Given the description of an element on the screen output the (x, y) to click on. 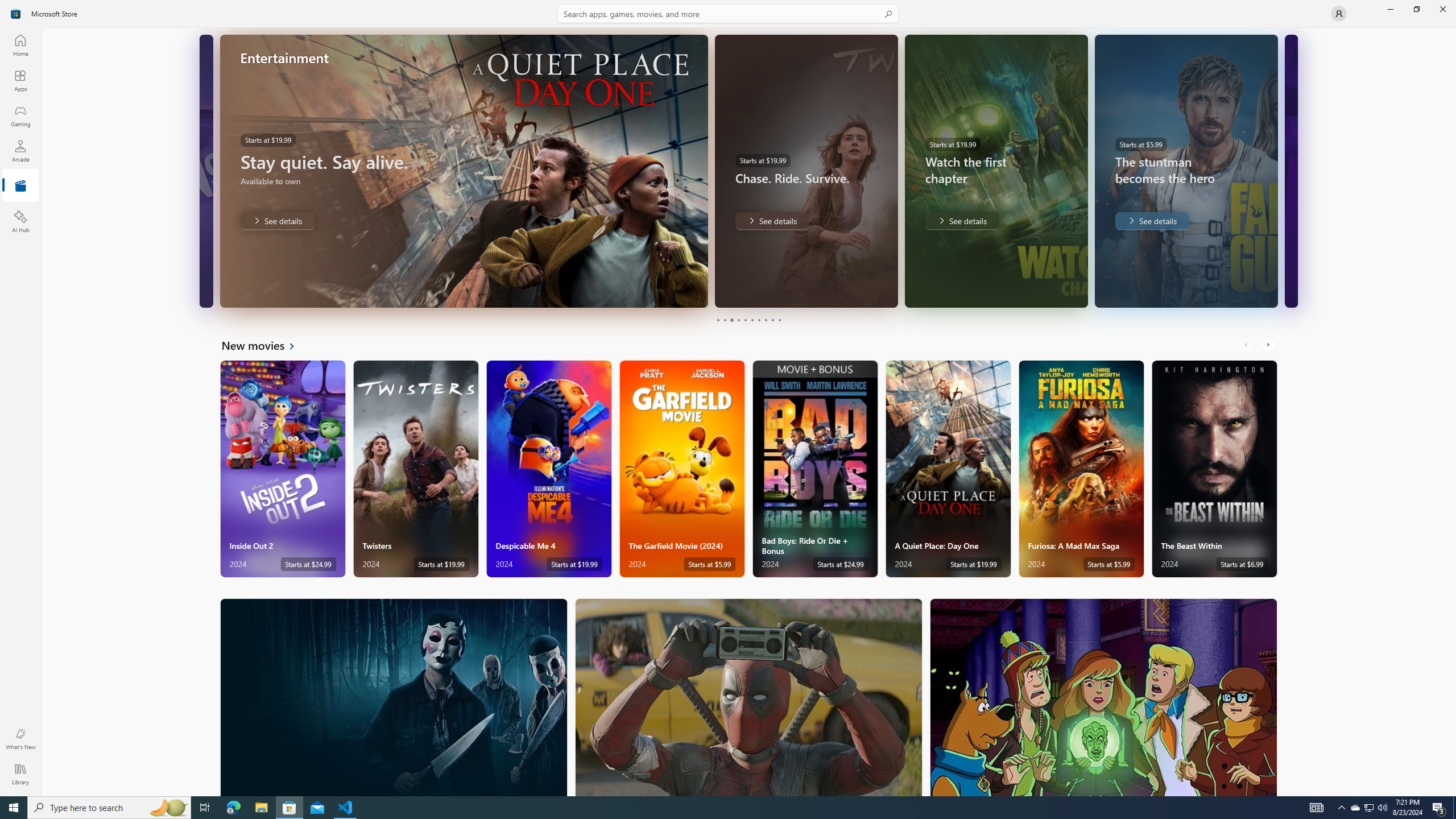
Entertainment (20, 185)
AutomationID: Image (1290, 170)
Page 6 (751, 319)
Search (727, 13)
Action & Adventure (749, 697)
Page 9 (772, 319)
Unmute (202, 291)
Close Microsoft Store (1442, 9)
Apps (20, 80)
Page 4 (738, 319)
Library (20, 773)
AI Hub (20, 221)
Gaming (20, 115)
Home (20, 45)
